Given the description of an element on the screen output the (x, y) to click on. 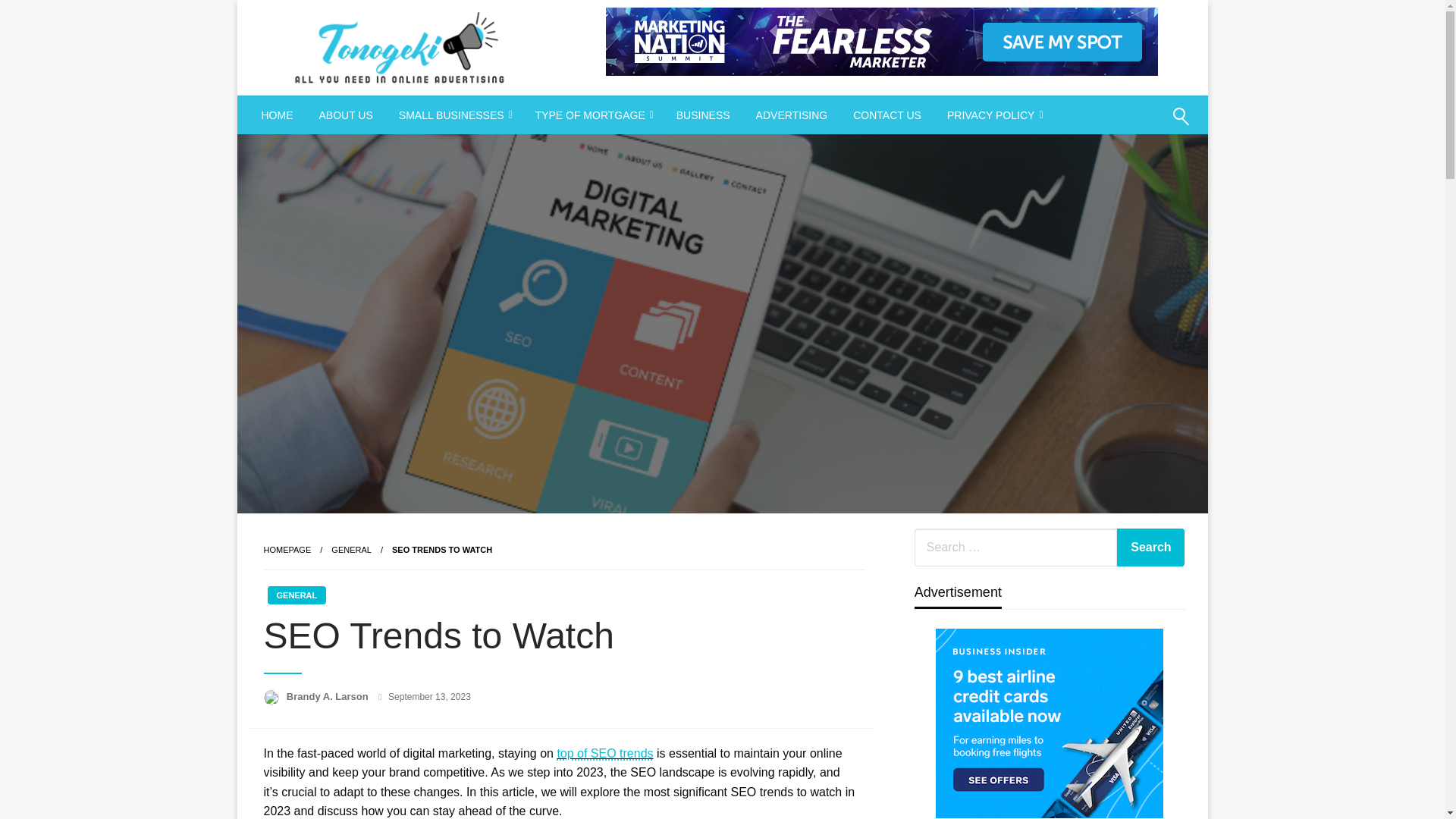
PRIVACY POLICY (993, 115)
GENERAL (351, 549)
Search (1150, 547)
top of SEO trends (604, 753)
ABOUT US (345, 115)
Homepage (287, 549)
TYPE OF MORTGAGE (592, 115)
Search (1144, 126)
Brandy A. Larson (328, 696)
SEO Trends to Watch (441, 549)
GENERAL (296, 595)
General (351, 549)
HOMEPAGE (287, 549)
Brandy A. Larson (328, 696)
Search (1150, 547)
